Given the description of an element on the screen output the (x, y) to click on. 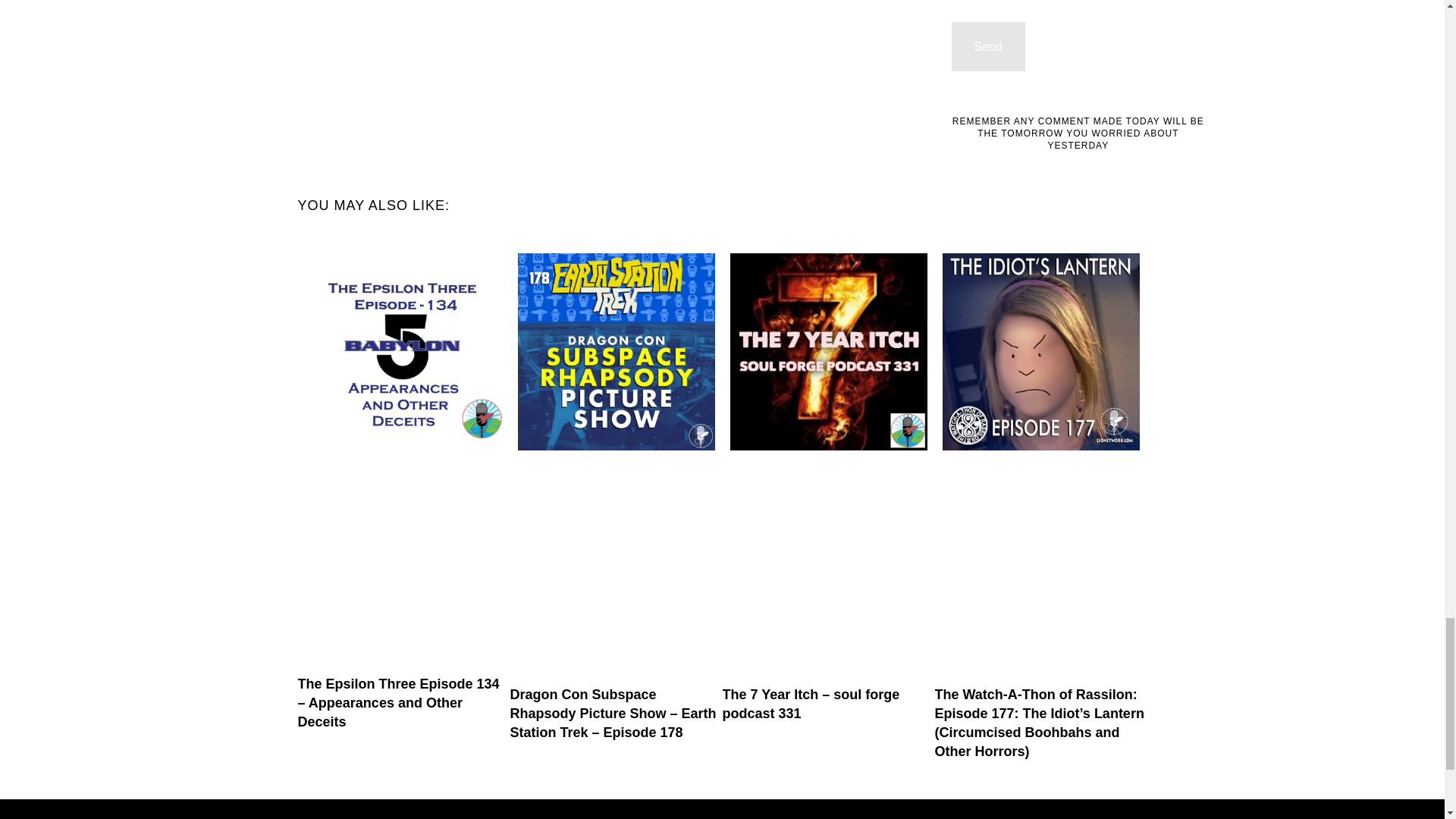
Send (988, 47)
